Given the description of an element on the screen output the (x, y) to click on. 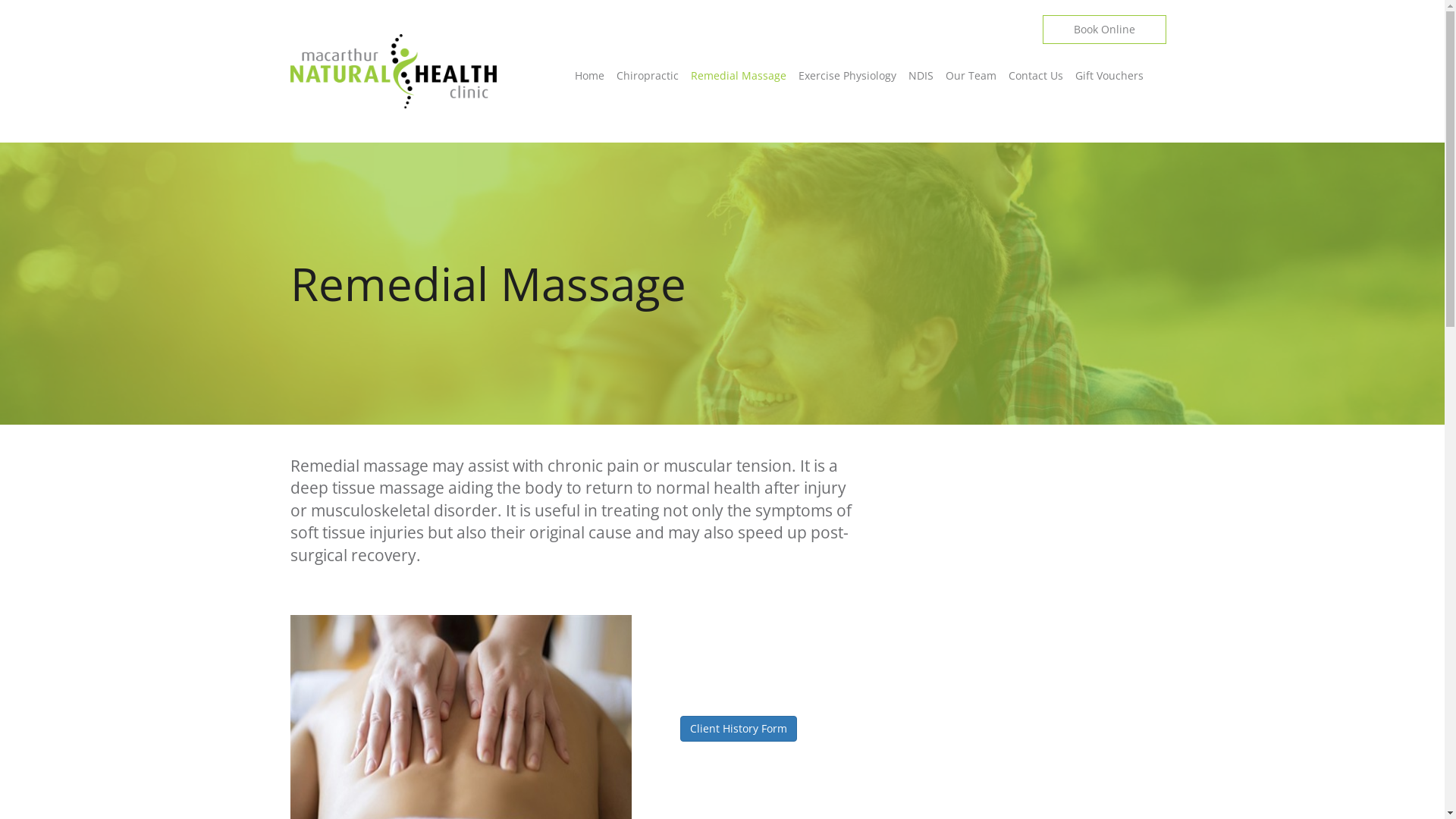
NDIS Element type: text (920, 75)
Our Team Element type: text (969, 75)
Contact Us Element type: text (1035, 75)
Remedial Massage Element type: text (737, 75)
Home Element type: text (592, 75)
Exercise Physiology Element type: text (846, 75)
Chiropractic Element type: text (646, 75)
Gift Vouchers Element type: text (1106, 75)
Client History Form Element type: text (737, 728)
Book Online Element type: text (1103, 29)
